Given the description of an element on the screen output the (x, y) to click on. 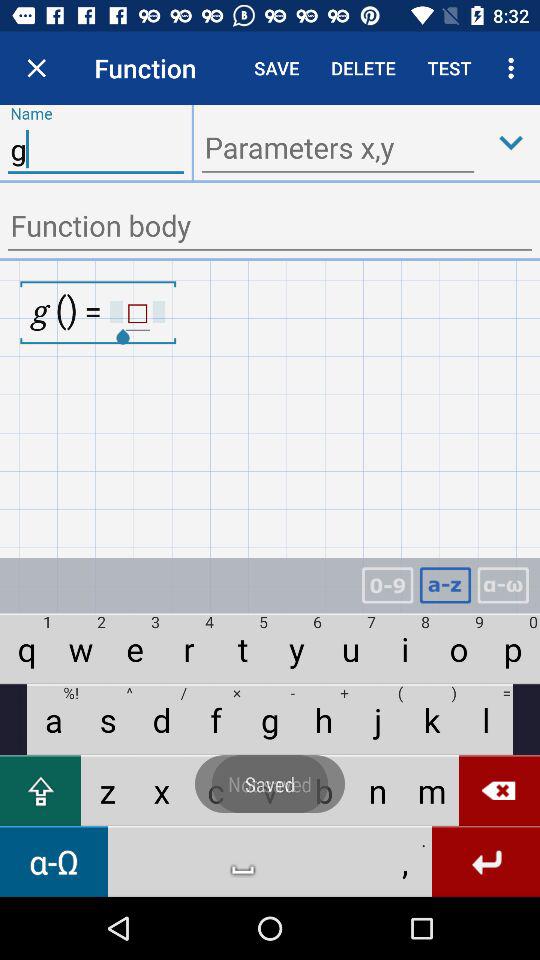
show more options (511, 142)
